Given the description of an element on the screen output the (x, y) to click on. 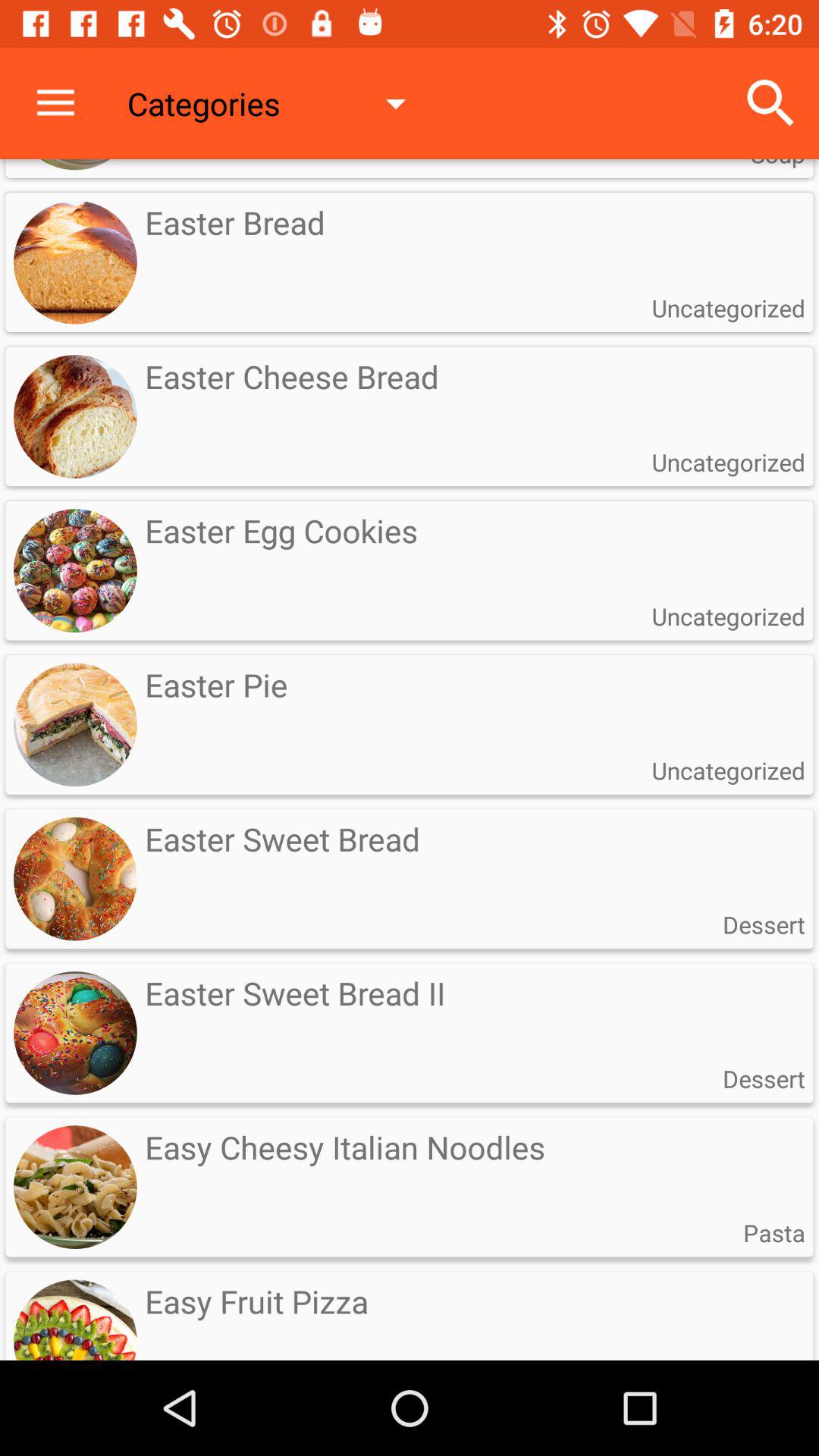
turn off the icon next to categories item (771, 103)
